Given the description of an element on the screen output the (x, y) to click on. 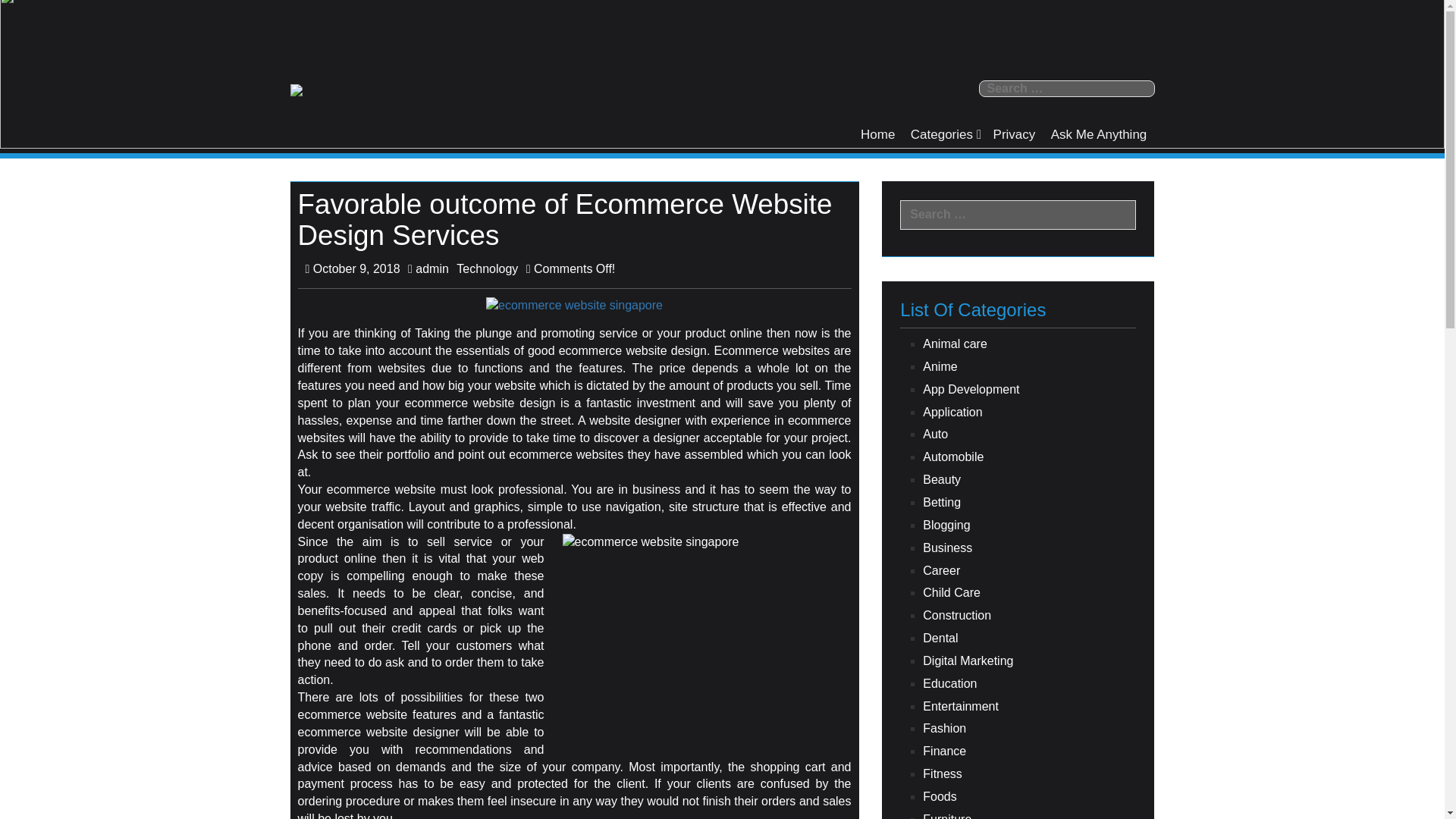
admin (427, 268)
Furniture (1029, 815)
Career (1029, 570)
Auto (1029, 434)
Education (1029, 683)
Technology (487, 268)
Child Care (1029, 592)
Automobile (1029, 457)
Fashion (1029, 728)
Favorable outcome of Ecommerce Website Design Services (574, 304)
